Given the description of an element on the screen output the (x, y) to click on. 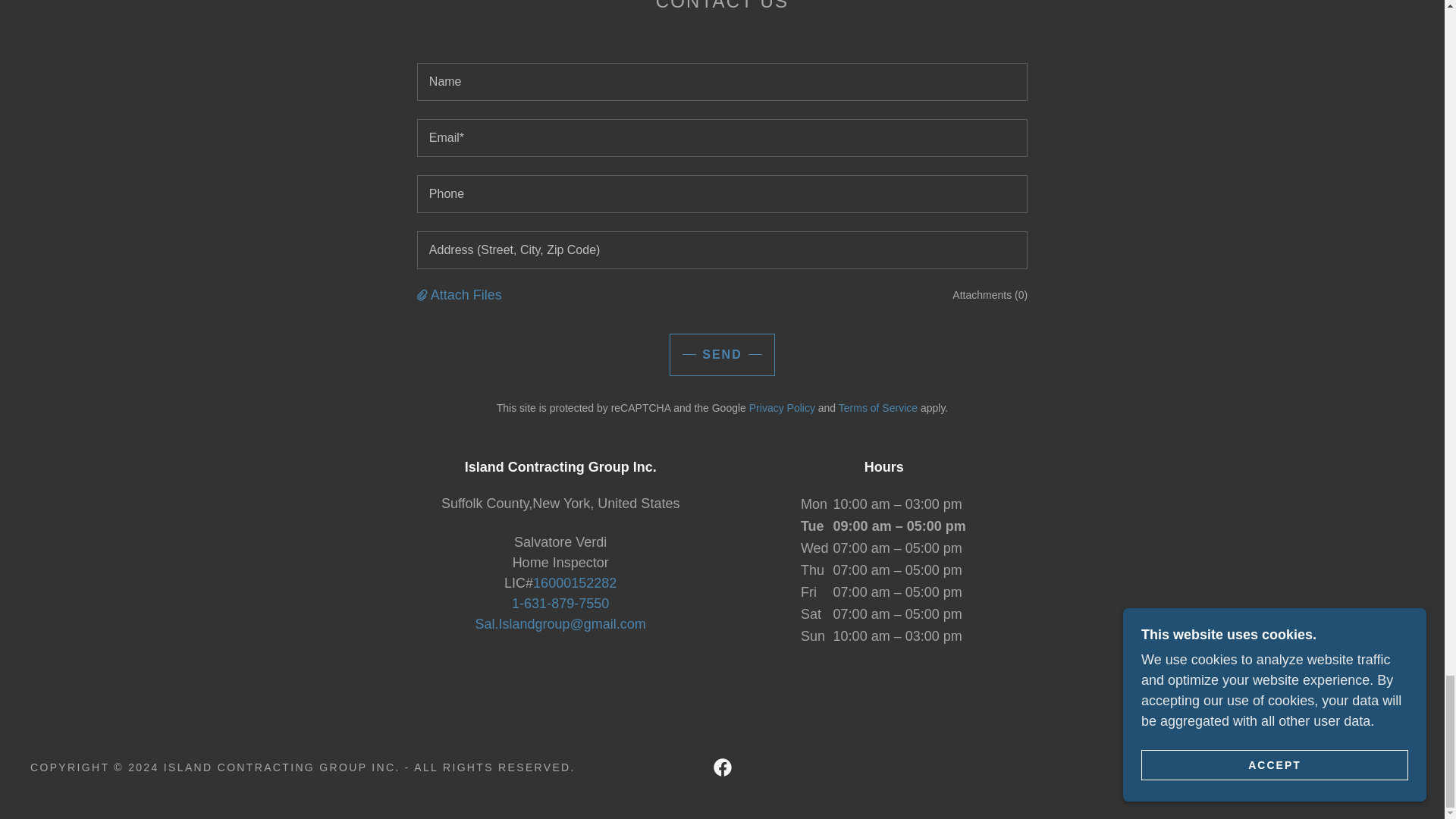
16000152282 (573, 582)
GODADDY (1380, 767)
Privacy Policy (782, 408)
Terms of Service (877, 408)
SEND (721, 354)
1-631-879-7550 (560, 603)
